Given the description of an element on the screen output the (x, y) to click on. 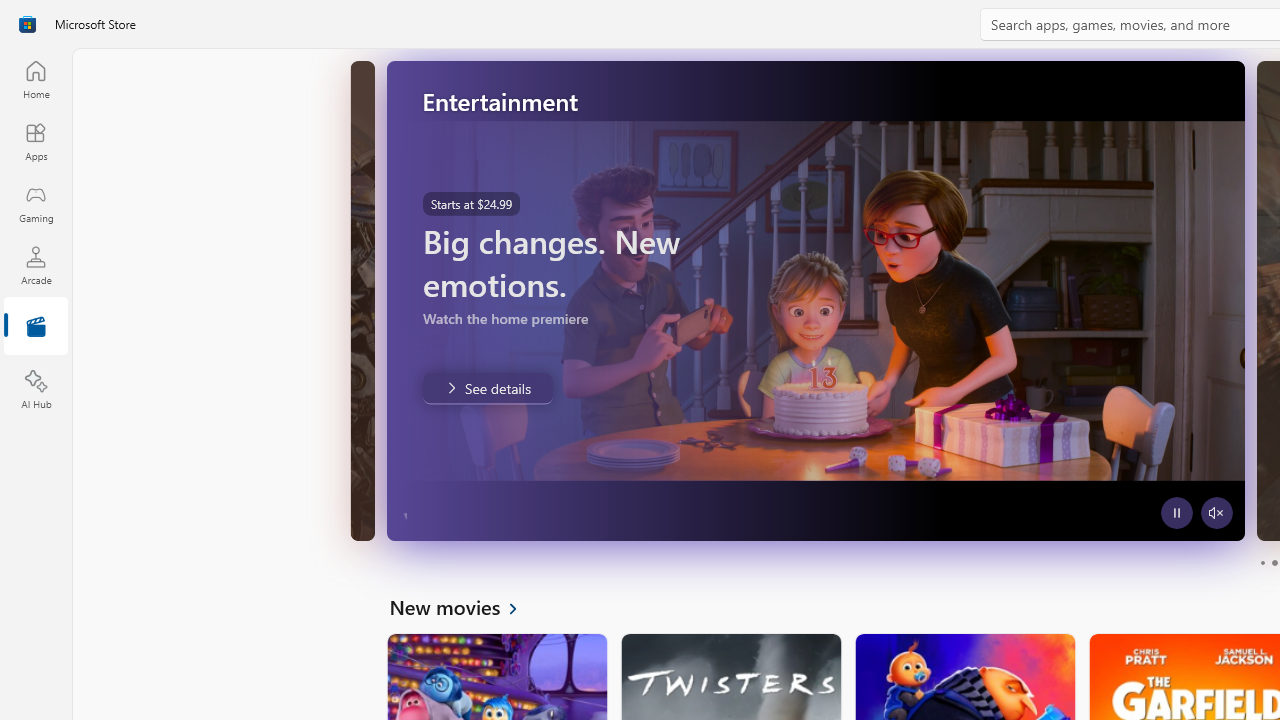
AutomationID: Image (815, 300)
See all  New movies (464, 606)
Page 2 (1274, 562)
Unmute (355, 512)
Page 1 (1261, 562)
